Given the description of an element on the screen output the (x, y) to click on. 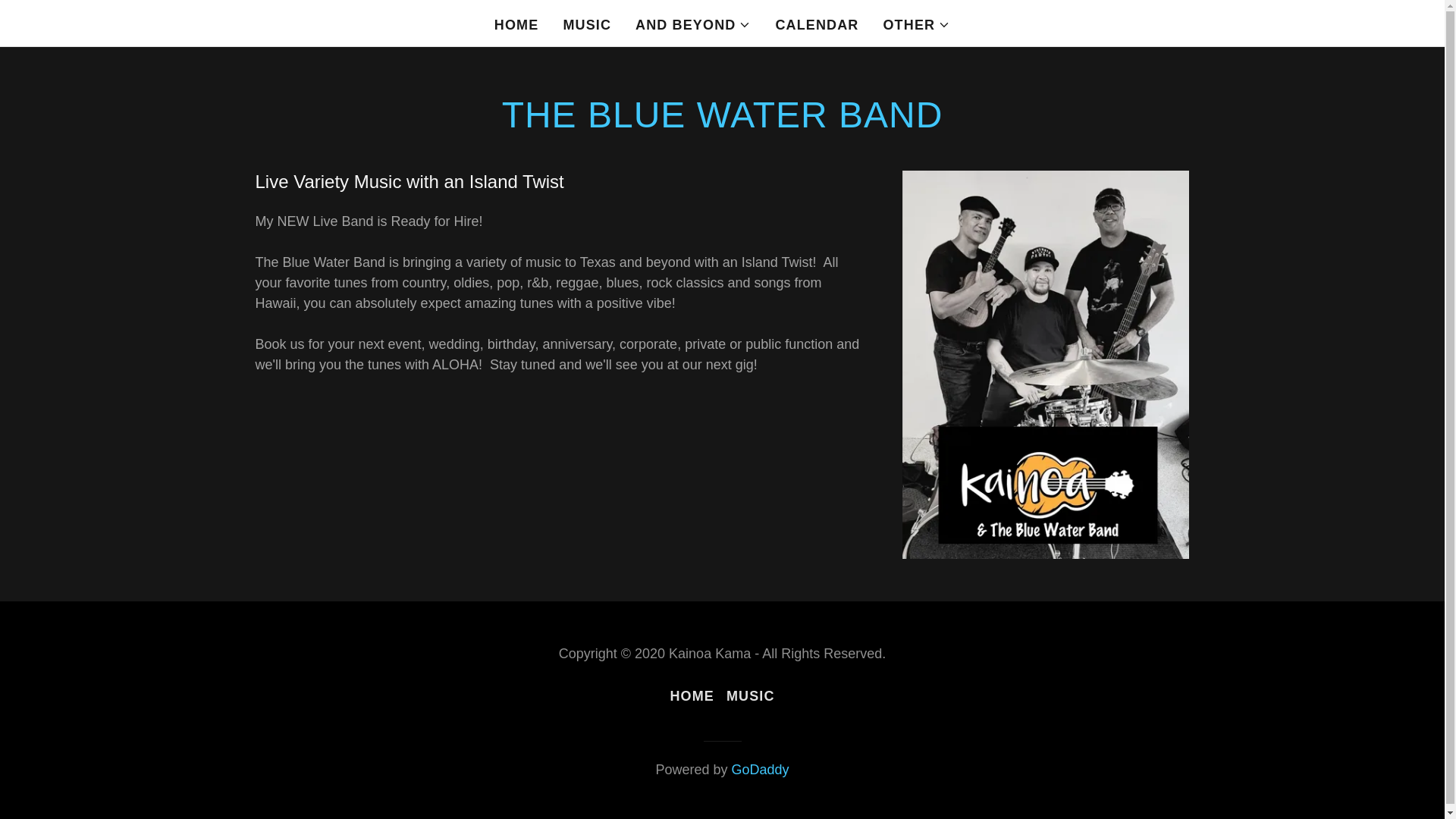
CALENDAR (816, 24)
MUSIC (750, 696)
HOME (516, 24)
HOME (691, 696)
GoDaddy (759, 769)
MUSIC (586, 24)
OTHER (916, 24)
AND BEYOND (692, 24)
